Given the description of an element on the screen output the (x, y) to click on. 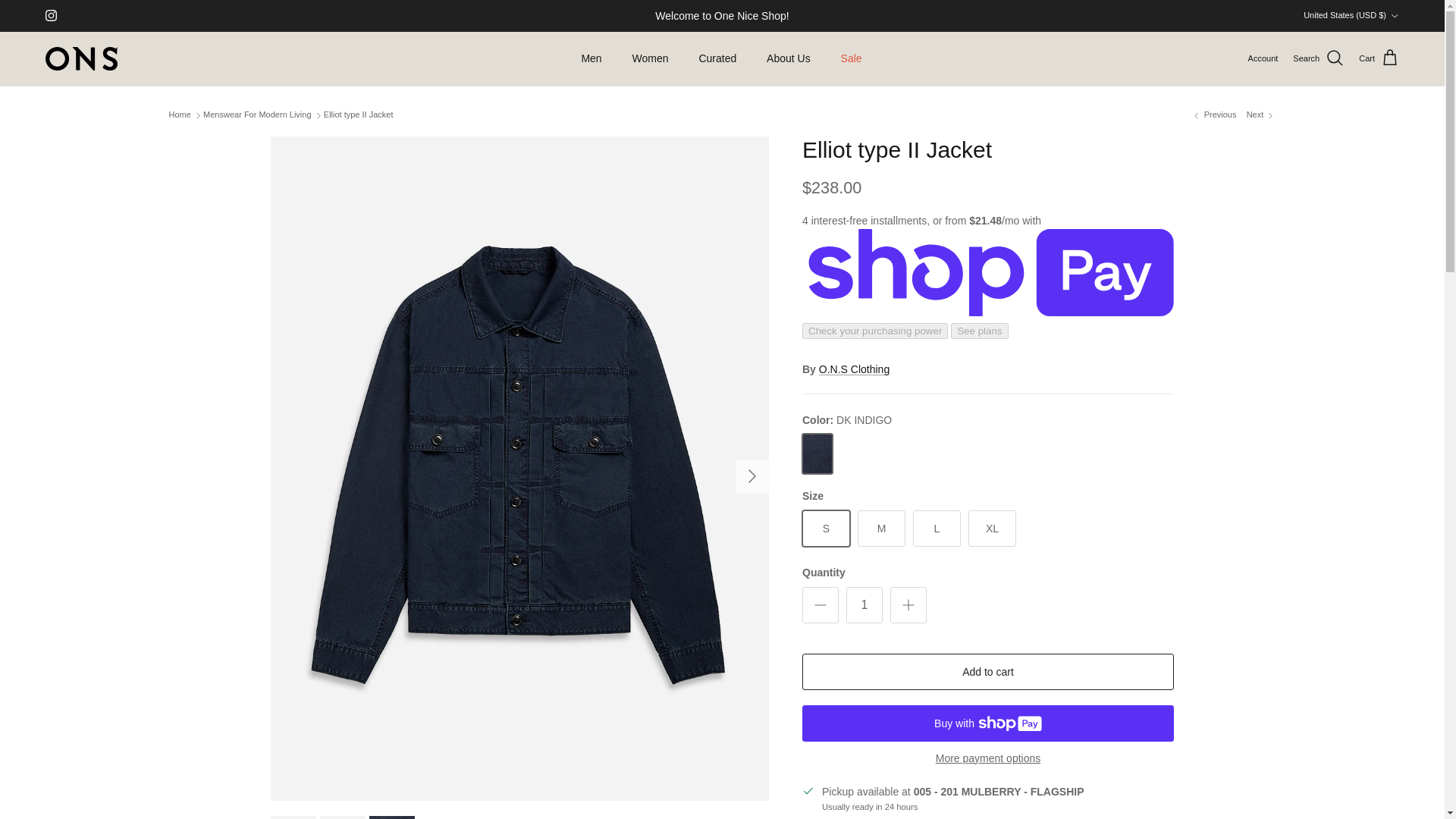
Sale (851, 58)
Search (1317, 57)
1 (863, 605)
Houstons Denim Twill Jeans (1261, 114)
Fulton Denim Shirt (1213, 114)
Account (1262, 59)
Women (650, 58)
Curated (716, 58)
Men (590, 58)
Cart (1378, 57)
Instagram (50, 15)
About Us (788, 58)
ONS Clothing on Instagram (50, 15)
ONS Clothing (81, 58)
